Given the description of an element on the screen output the (x, y) to click on. 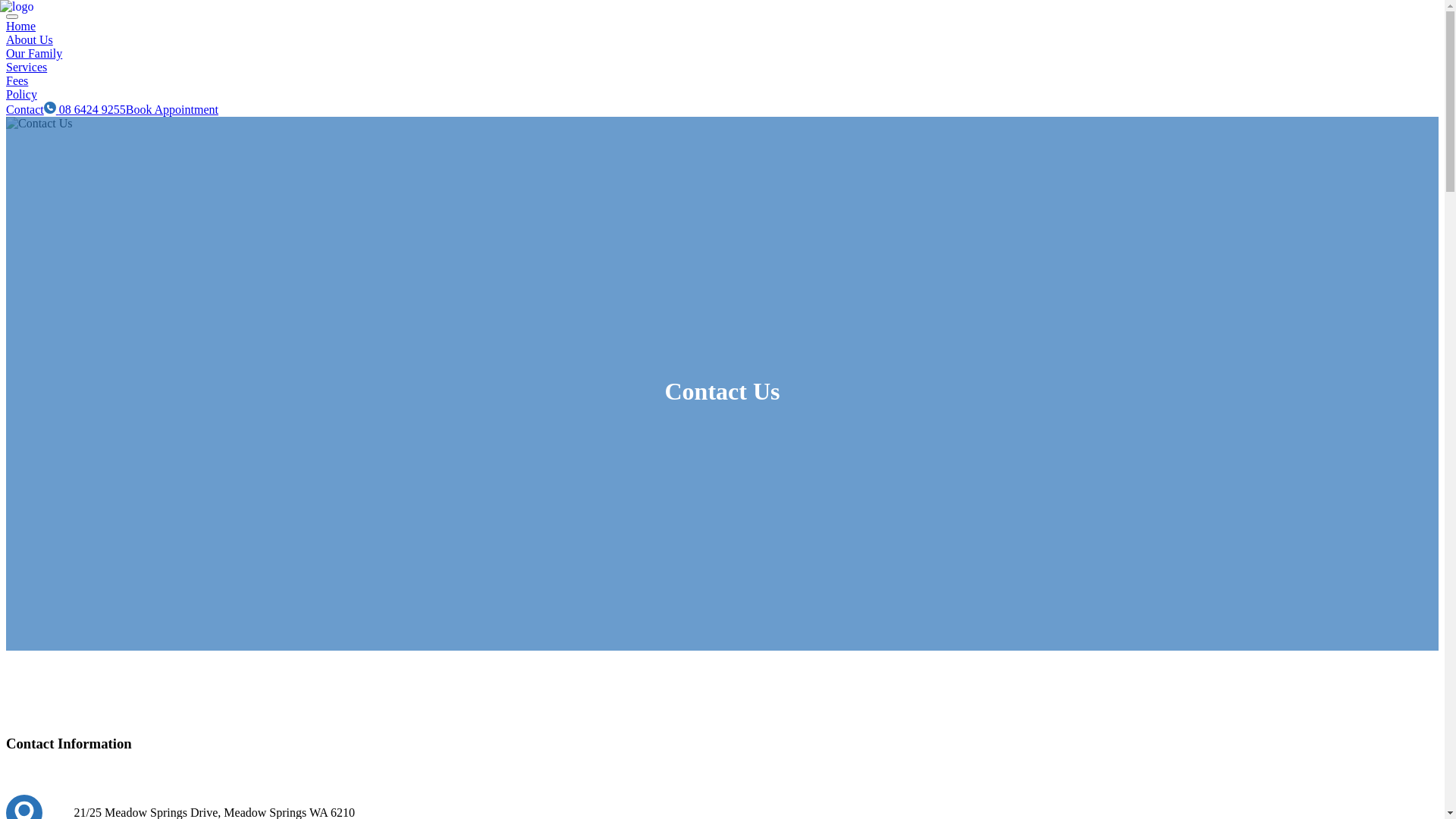
Contact Element type: text (722, 117)
Services Element type: text (722, 73)
Home Element type: text (722, 25)
Fees Element type: text (722, 87)
08 6424 9255 Element type: text (84, 109)
Book Appointment Element type: text (171, 109)
About Us Element type: text (722, 46)
Policy Element type: text (722, 100)
Our Family Element type: text (722, 60)
